Given the description of an element on the screen output the (x, y) to click on. 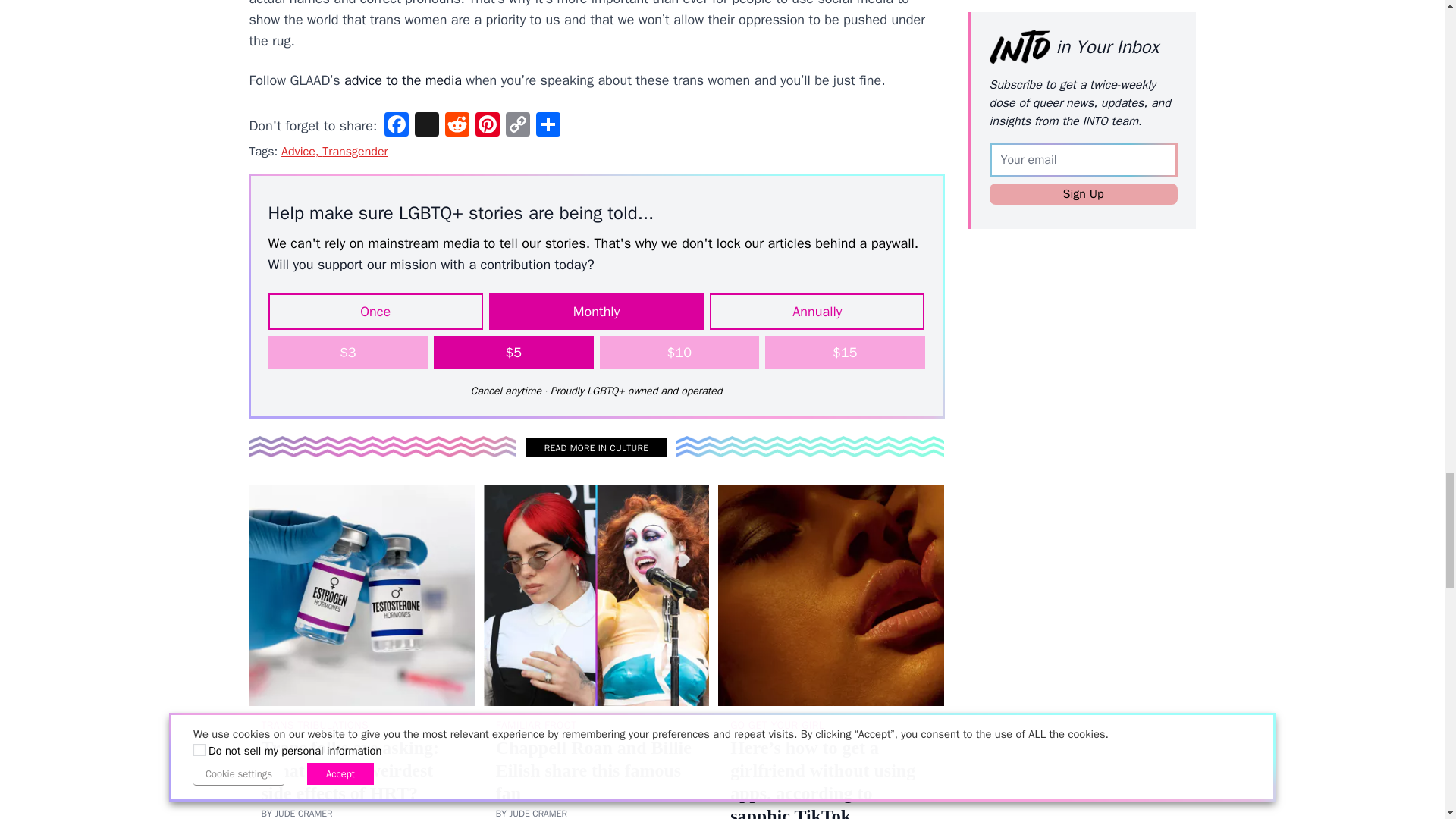
Pinterest (486, 126)
Reddit (456, 126)
X (427, 126)
X (427, 126)
Facebook (396, 126)
Pinterest (486, 126)
Sign Up (1082, 170)
Facebook (396, 126)
Copy Link (517, 126)
Share (547, 126)
advice to the media (402, 80)
Copy Link (517, 126)
Reddit (456, 126)
